Given the description of an element on the screen output the (x, y) to click on. 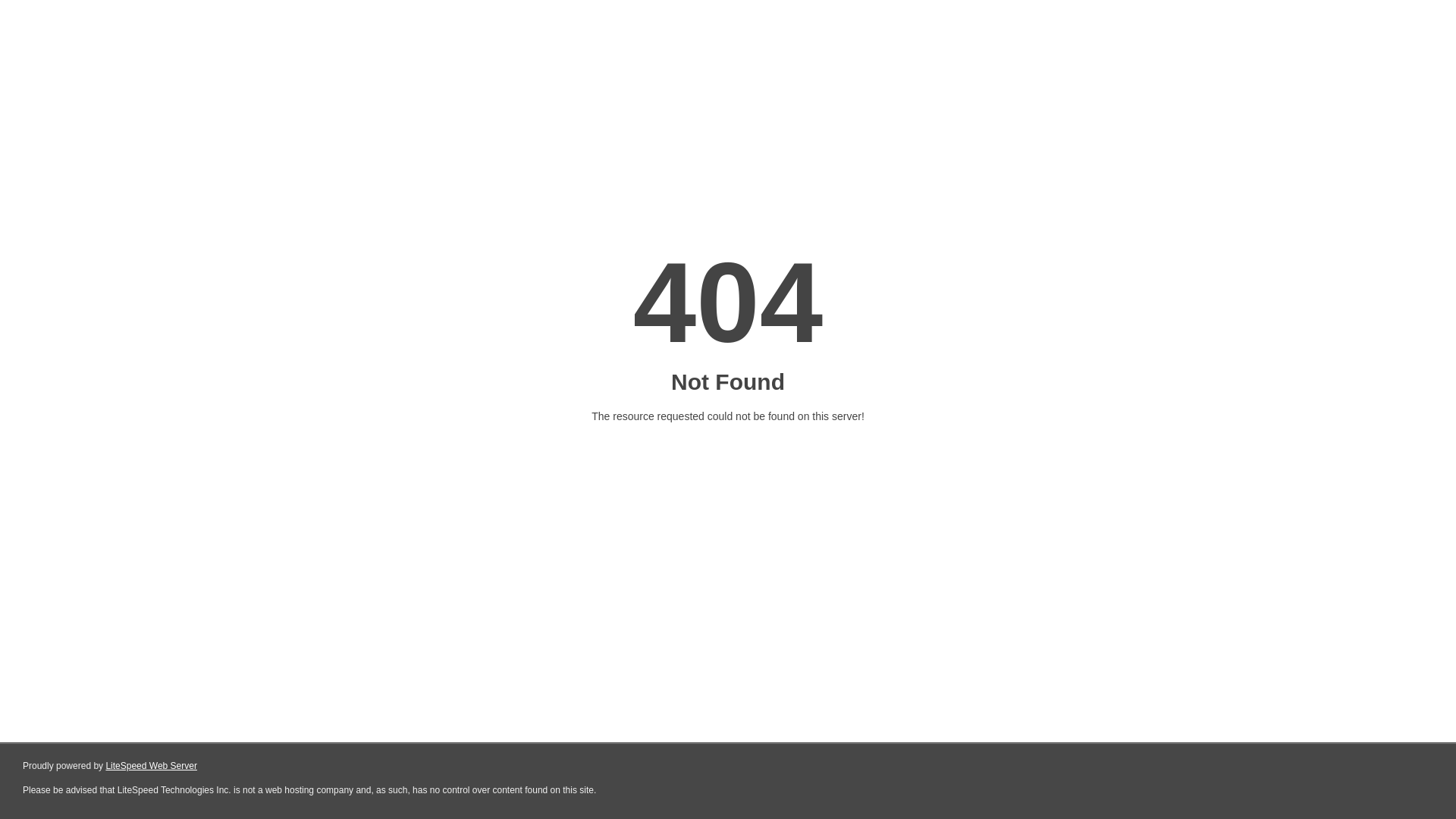
LiteSpeed Web Server Element type: text (151, 765)
